Given the description of an element on the screen output the (x, y) to click on. 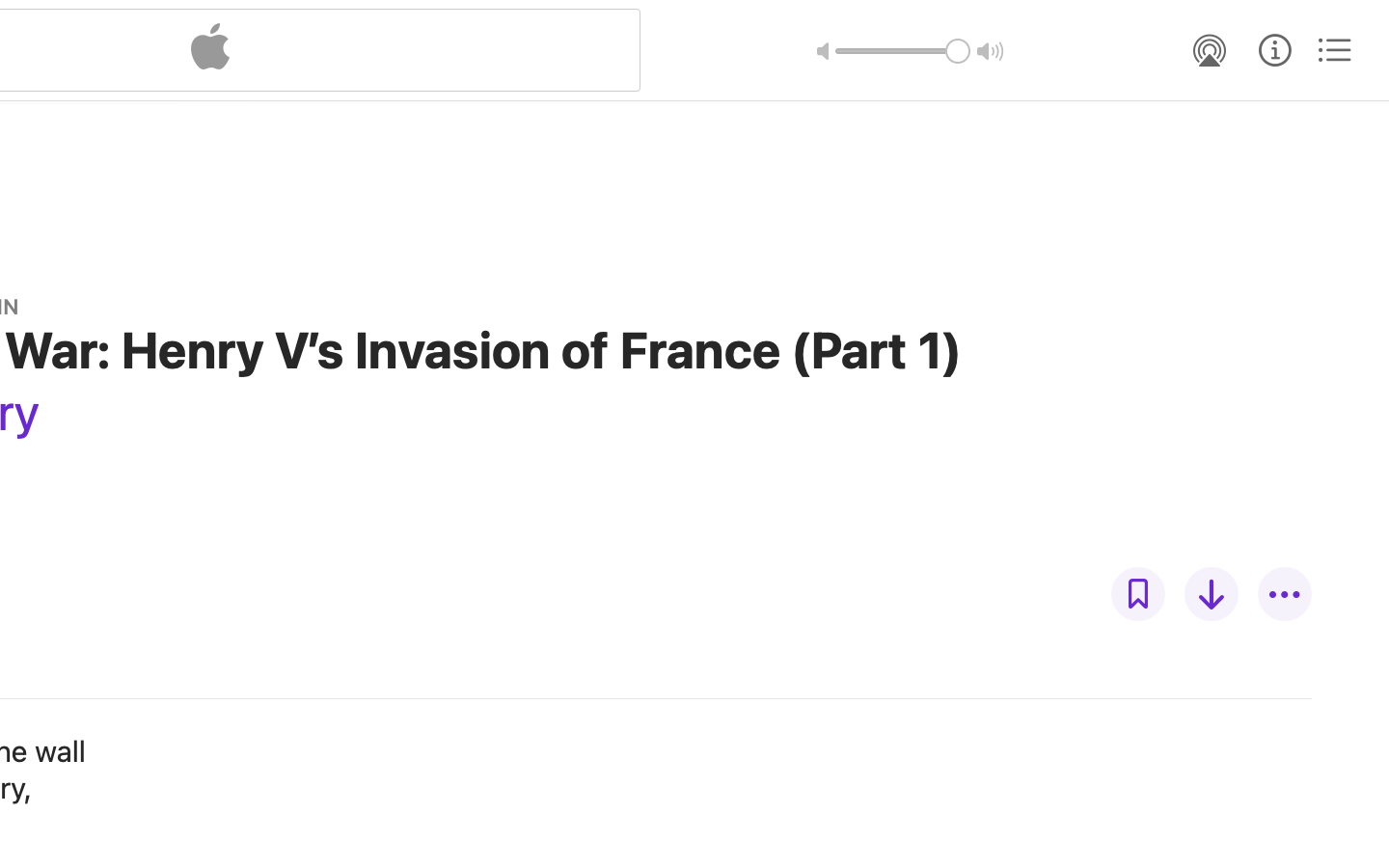
1.0 Element type: AXSlider (902, 50)
Off Element type: AXButton (1138, 594)
